Given the description of an element on the screen output the (x, y) to click on. 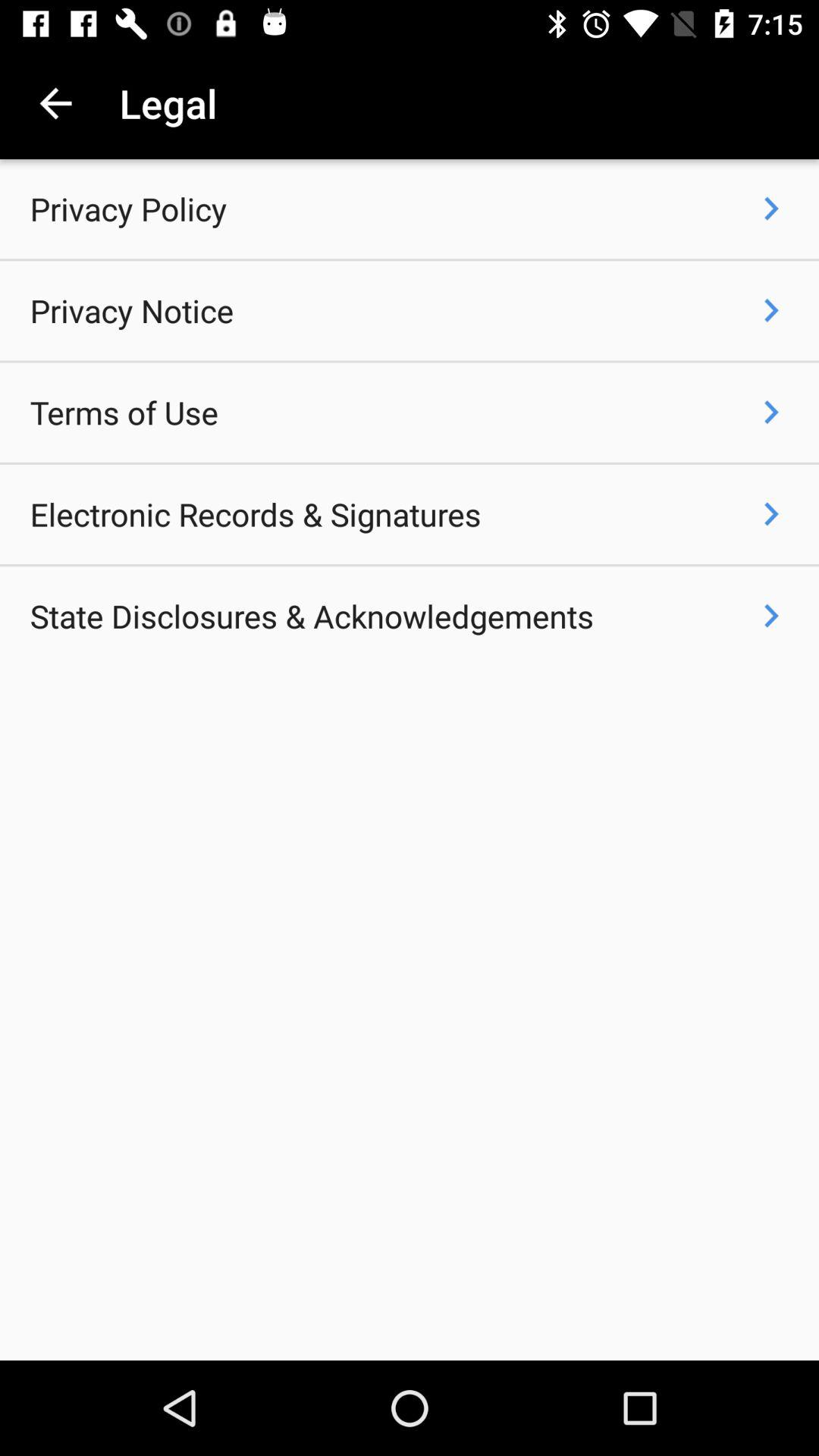
launch the electronic records & signatures on the left (255, 514)
